Given the description of an element on the screen output the (x, y) to click on. 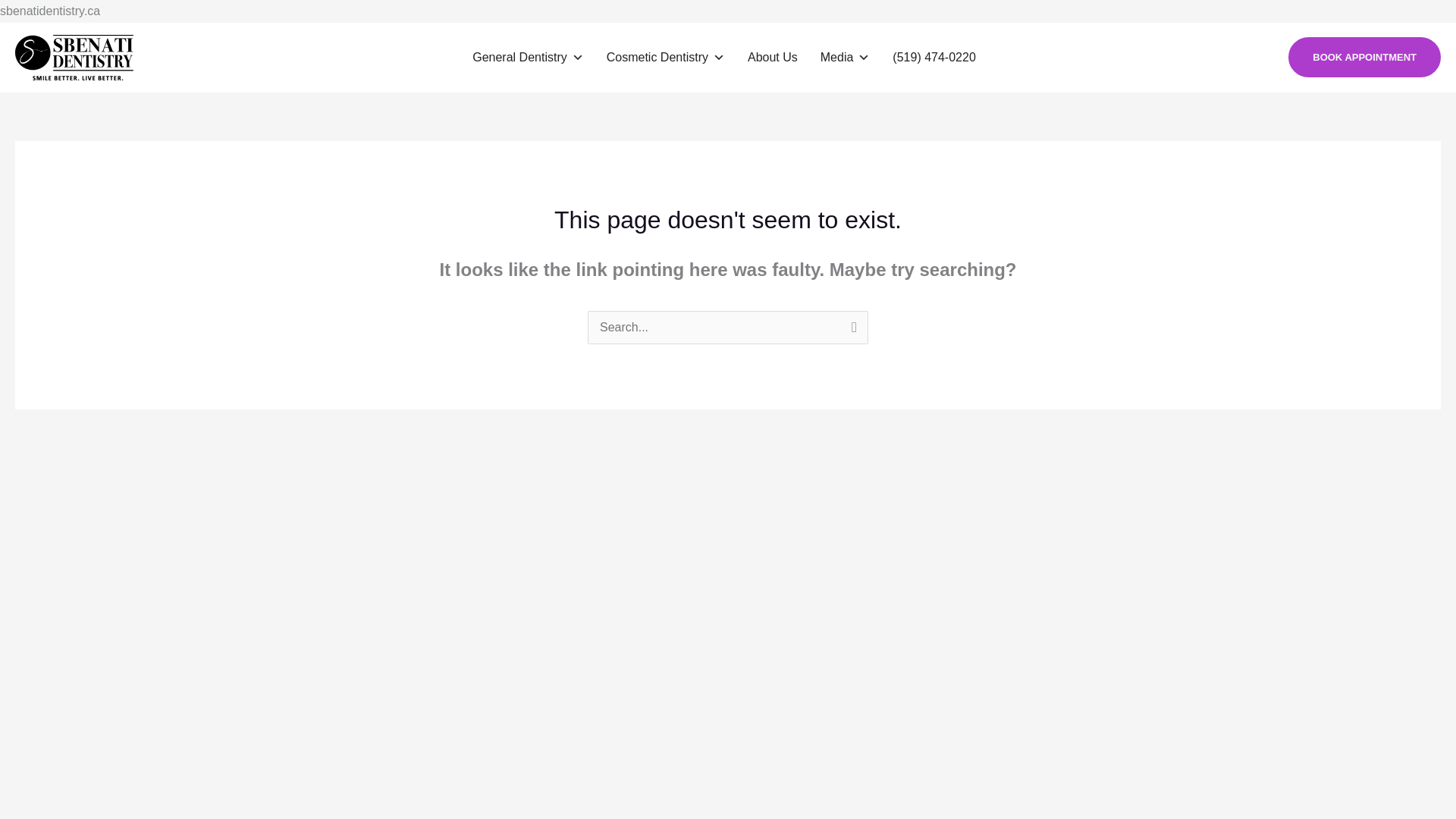
Media (844, 57)
General Dentistry (527, 57)
Cosmetic Dentistry (665, 57)
BOOK APPOINTMENT (1364, 56)
About Us (772, 57)
